Given the description of an element on the screen output the (x, y) to click on. 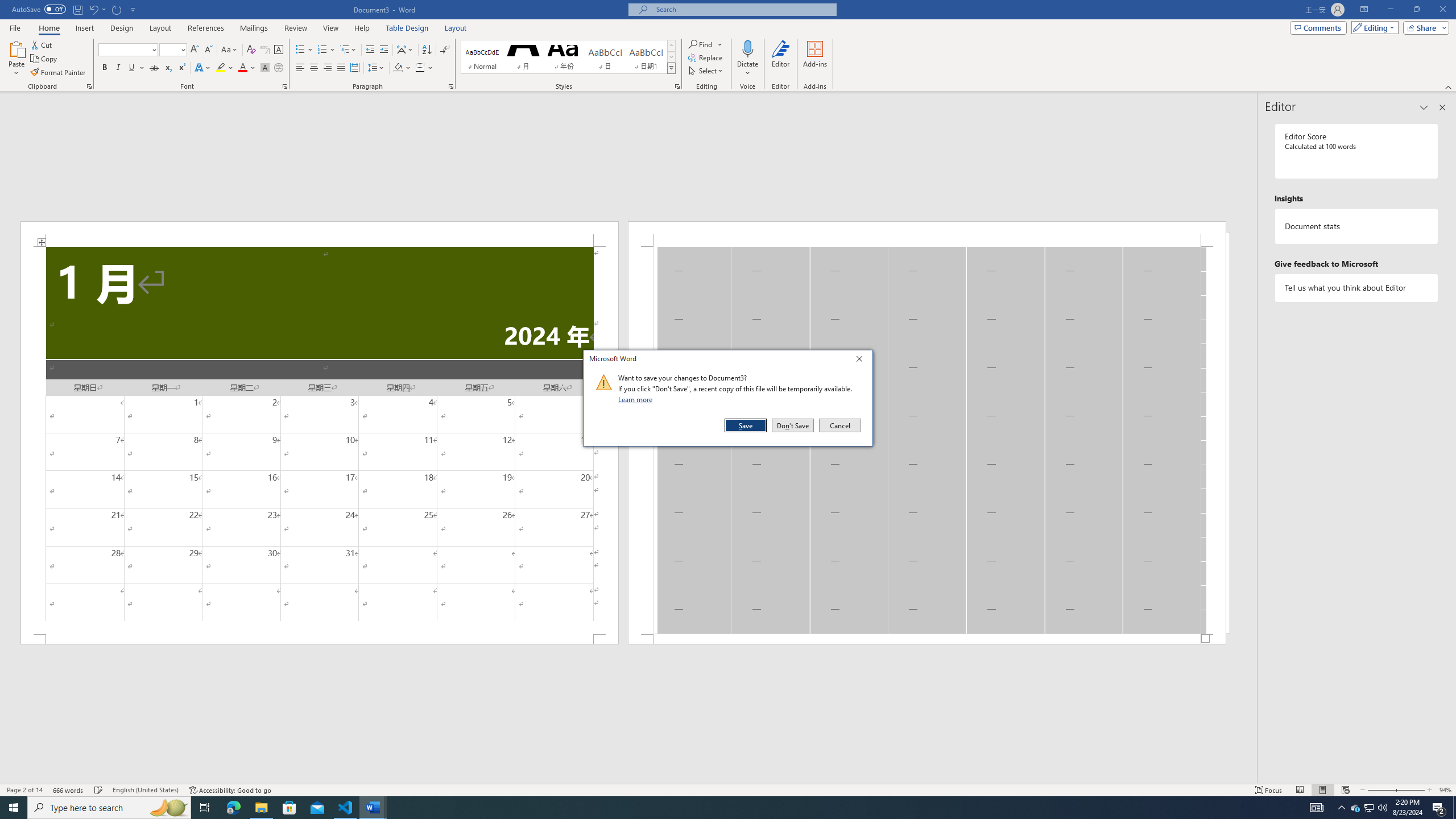
Repeat Copy (117, 9)
